Given the description of an element on the screen output the (x, y) to click on. 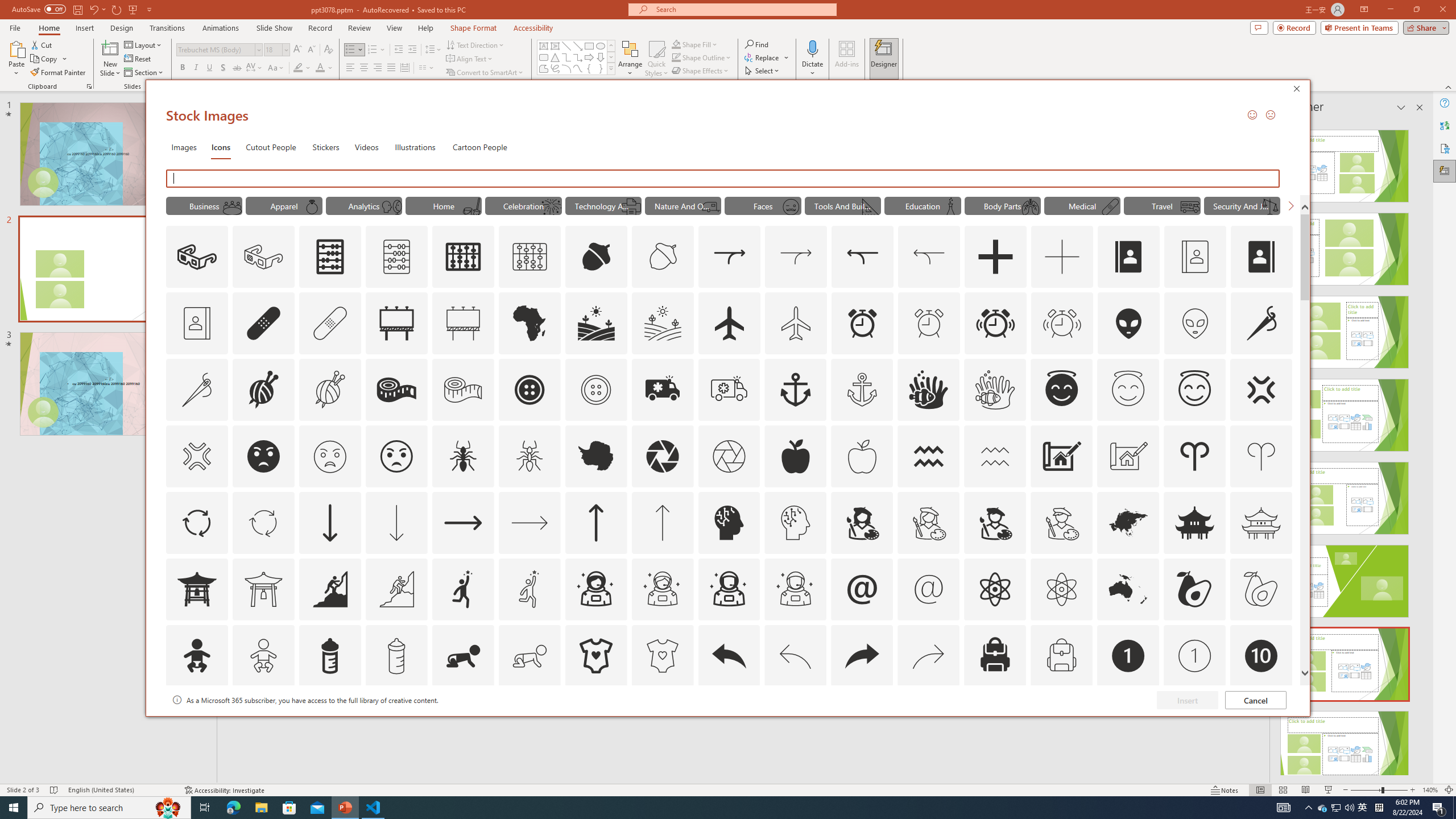
IME Mode Icon - IME is disabled (1362, 807)
AutomationID: Icons_MoustacheFace_M (790, 206)
AutomationID: Icons_Badge3 (395, 721)
AutomationID: Icons_AlarmRinging (995, 323)
AutomationID: Icons_ArtificialIntelligence_M (795, 522)
